Given the description of an element on the screen output the (x, y) to click on. 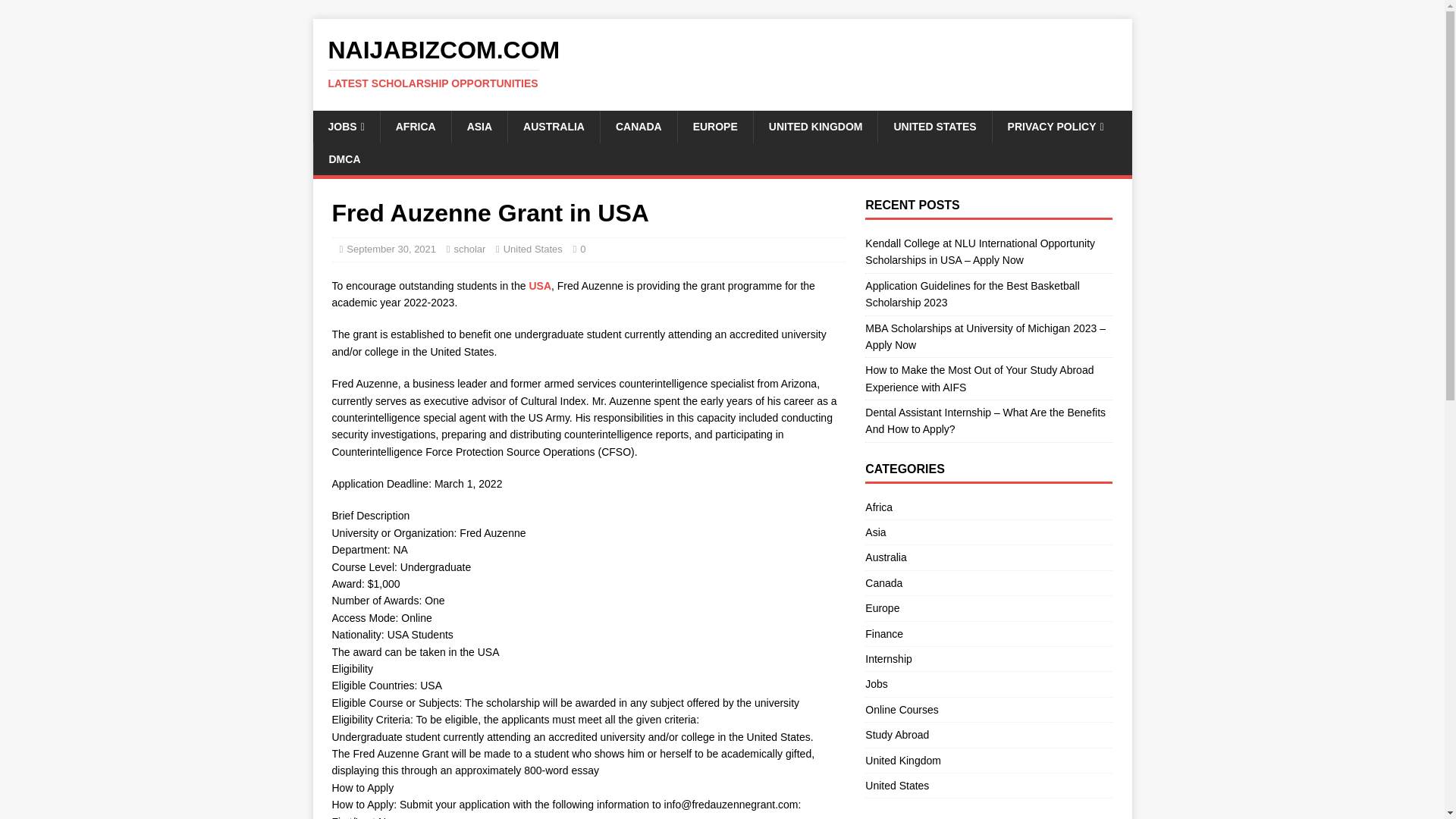
AFRICA (415, 126)
JOBS (345, 126)
PRIVACY POLICY (1055, 126)
ASIA (478, 126)
CANADA (721, 63)
USA (638, 126)
scholar (539, 285)
Naijabizcom.com (468, 248)
EUROPE (721, 63)
